Given the description of an element on the screen output the (x, y) to click on. 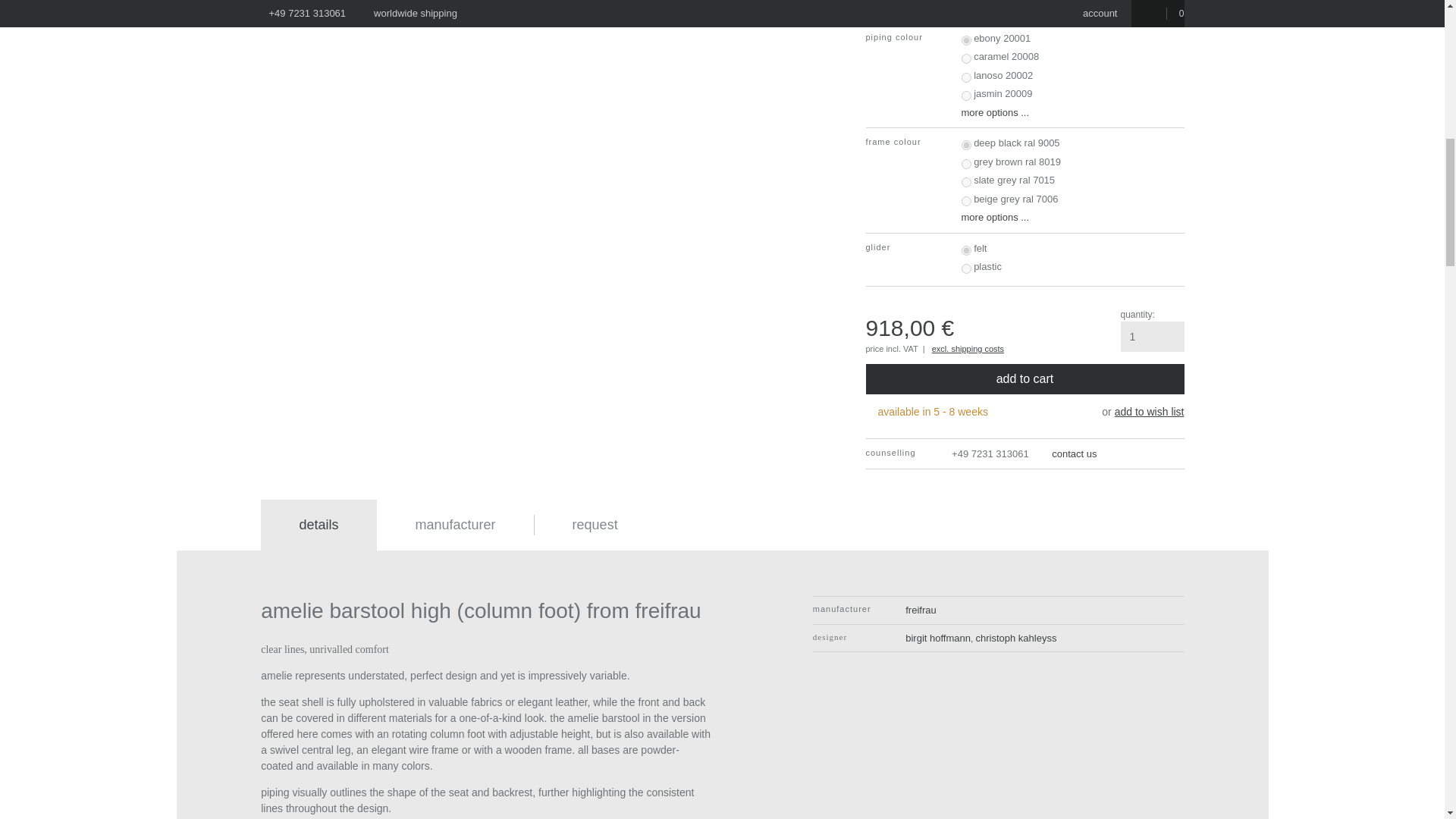
226567 (965, 201)
226556 (965, 77)
226557 (965, 95)
1 (1153, 336)
more options ... (1072, 7)
226554 (965, 40)
226555 (965, 58)
226566 (965, 182)
more options ... (1072, 112)
226564 (965, 144)
226572 (965, 268)
226571 (965, 250)
more options ... (1072, 217)
226565 (965, 163)
